Given the description of an element on the screen output the (x, y) to click on. 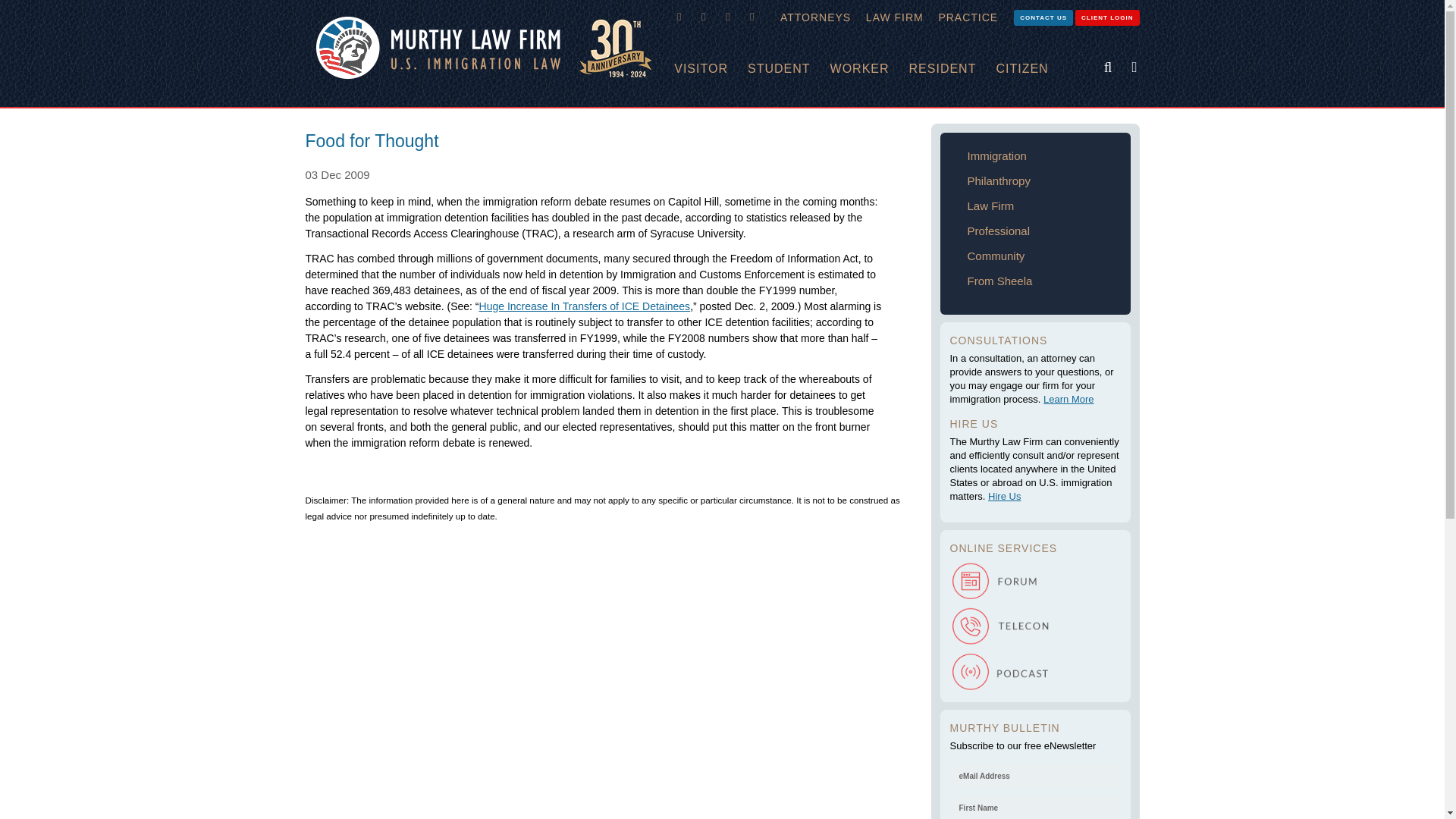
RESIDENT (951, 69)
CONTACT US (1043, 17)
STUDENT (788, 69)
CLIENT LOGIN (1106, 17)
ATTORNEYS (815, 17)
WORKER (868, 69)
LAW FIRM (895, 17)
VISITOR (711, 69)
PRACTICE (967, 17)
